Given the description of an element on the screen output the (x, y) to click on. 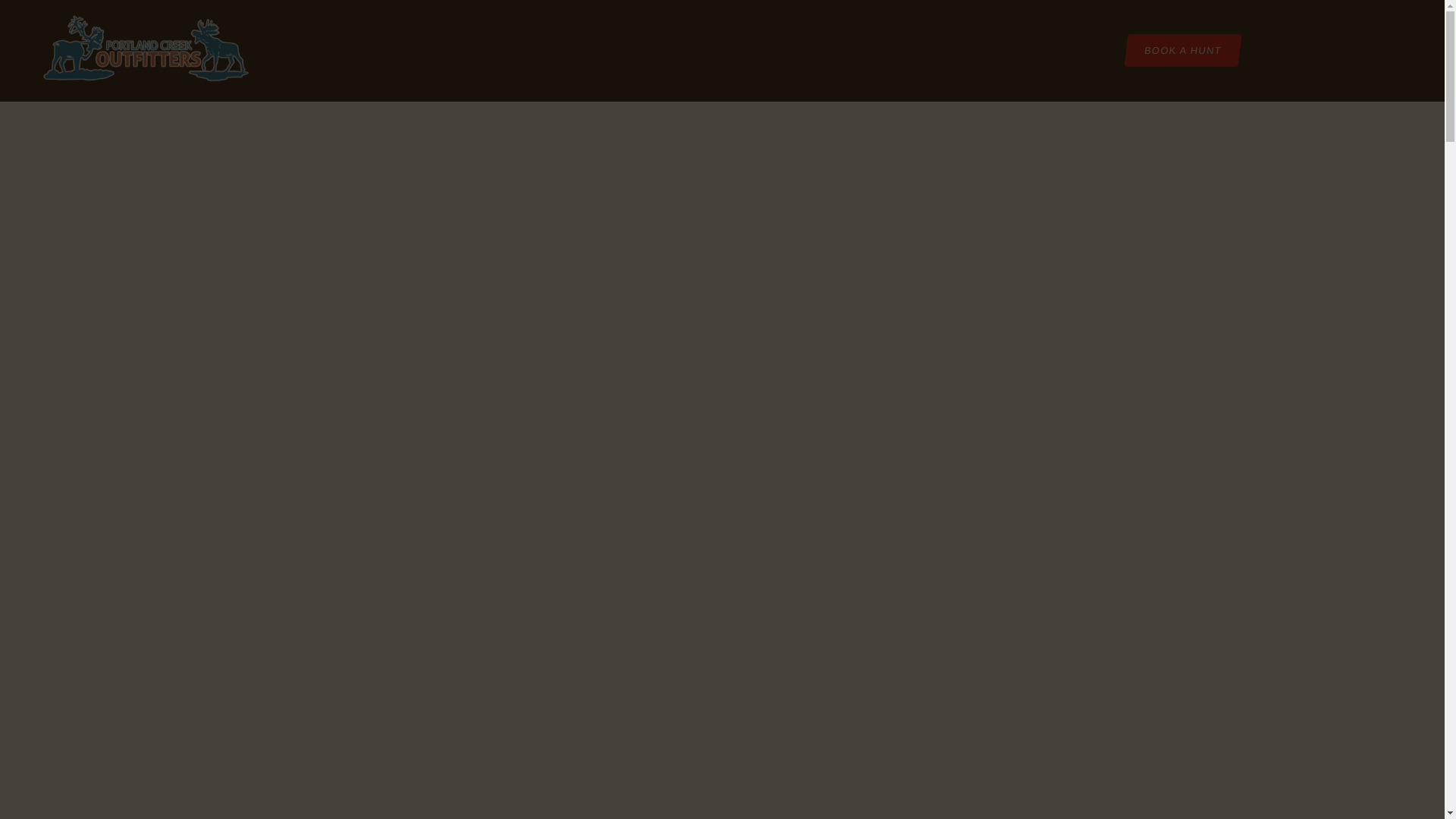
BOOK A HUNT (1180, 50)
